Given the description of an element on the screen output the (x, y) to click on. 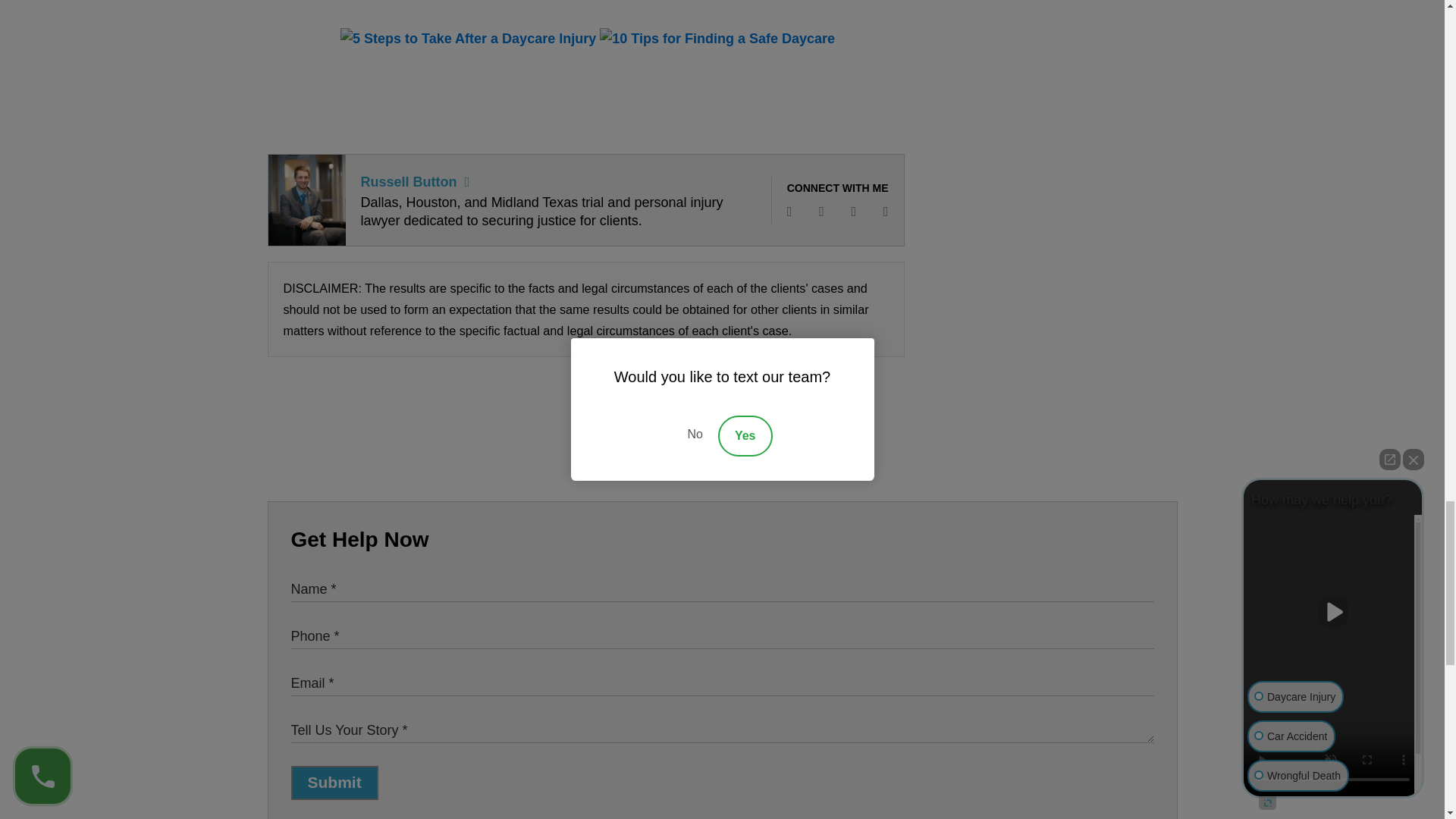
Connect with me on LinkedIn (854, 211)
Watch me on YouTube (885, 211)
Find me on Facebook (789, 211)
Follow me on X (821, 211)
